Given the description of an element on the screen output the (x, y) to click on. 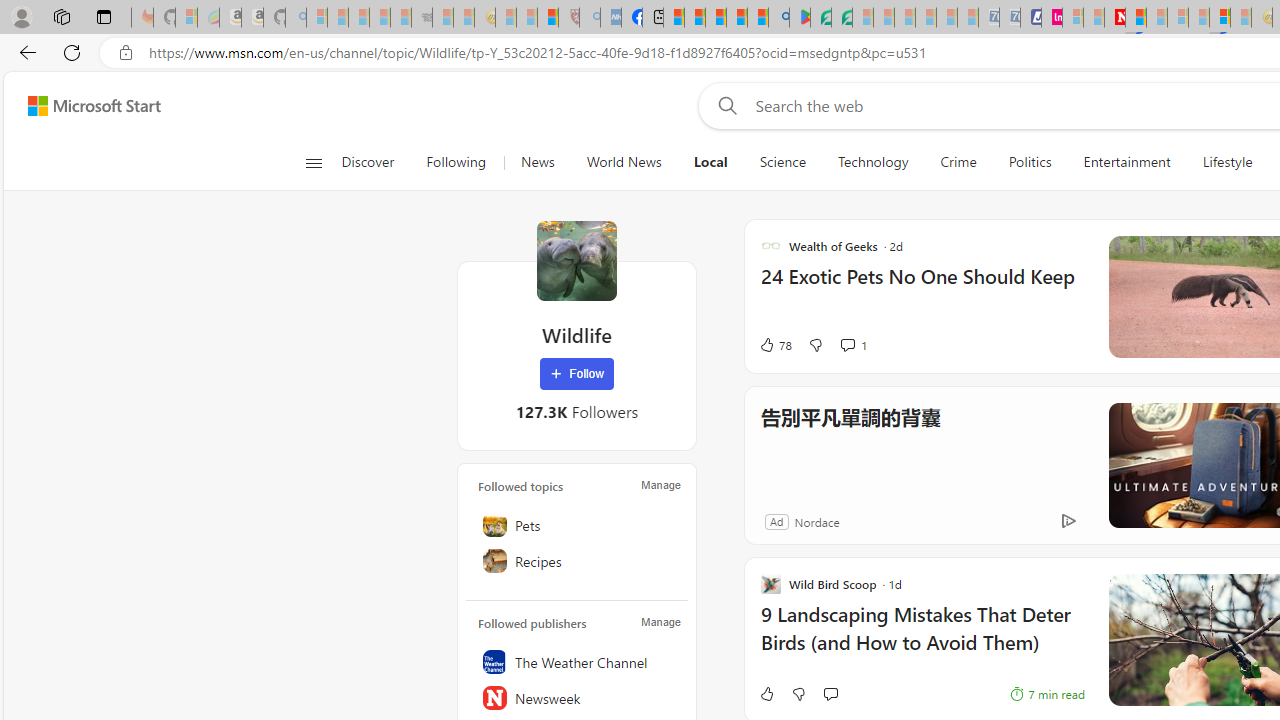
Entertainment (1126, 162)
Local - MSN (547, 17)
Wildlife (576, 260)
Class: button-glyph (313, 162)
